Given the description of an element on the screen output the (x, y) to click on. 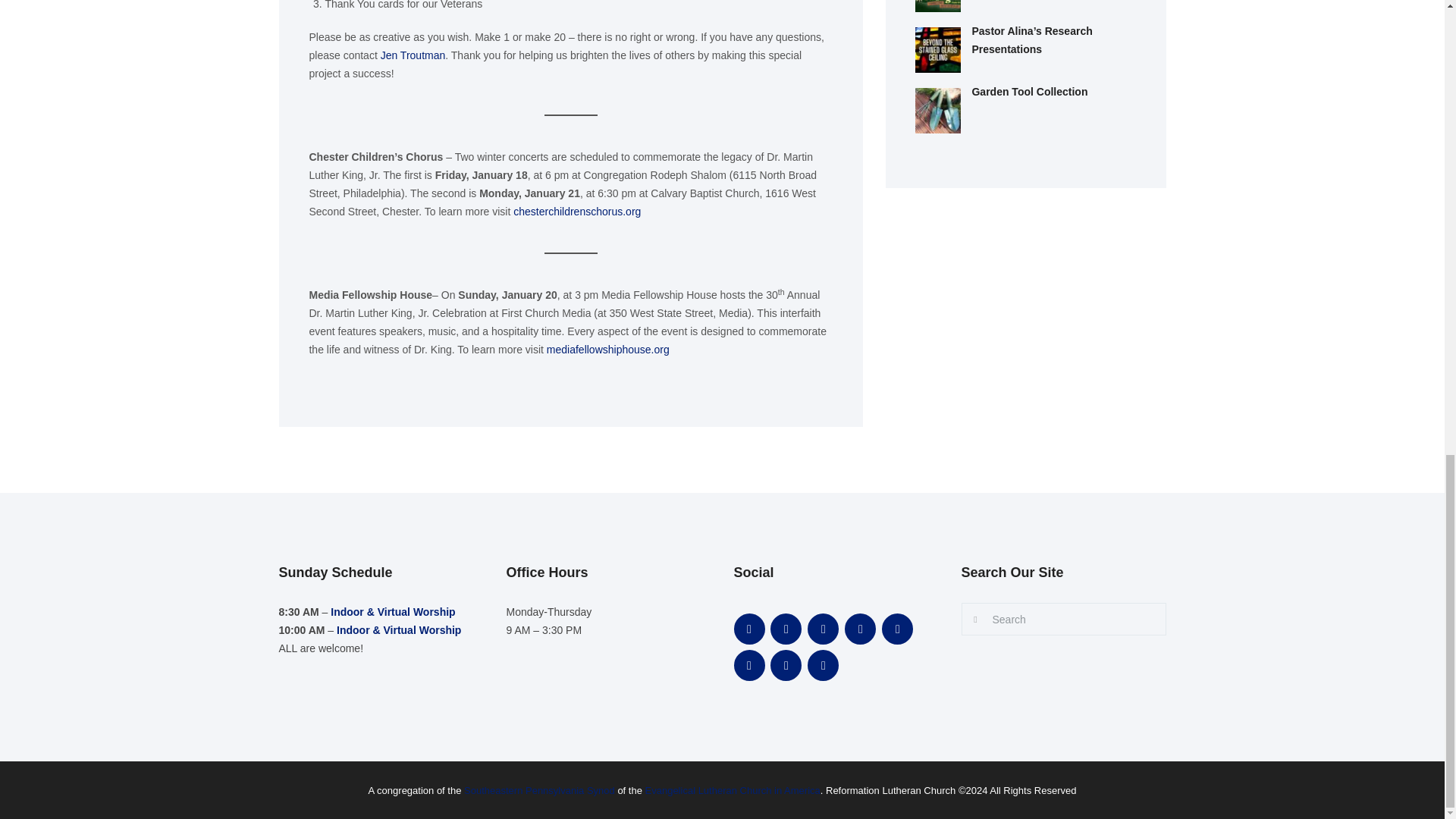
Search for: (1063, 618)
